Given the description of an element on the screen output the (x, y) to click on. 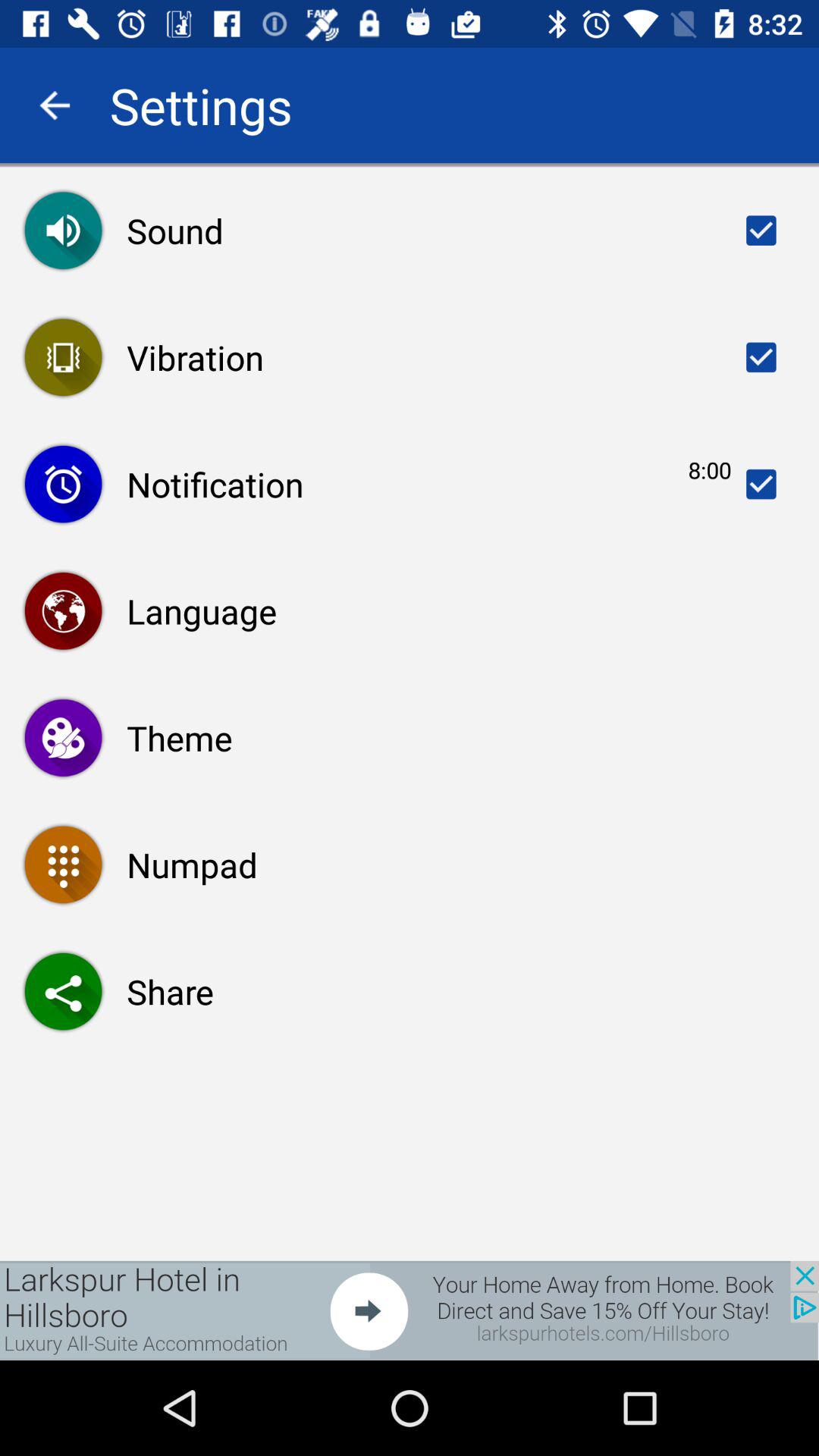
go back (54, 105)
